Given the description of an element on the screen output the (x, y) to click on. 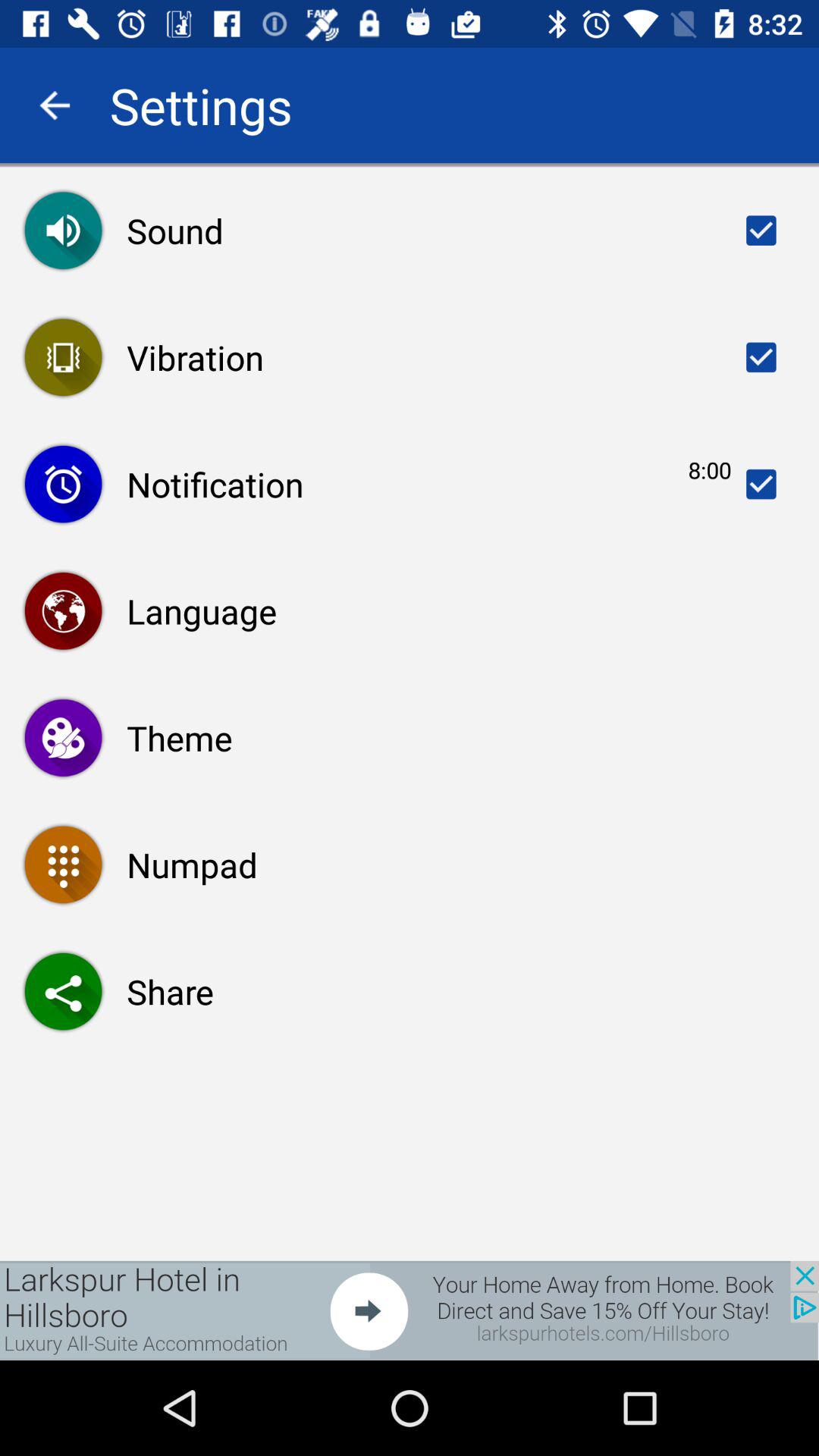
go back (54, 105)
